Given the description of an element on the screen output the (x, y) to click on. 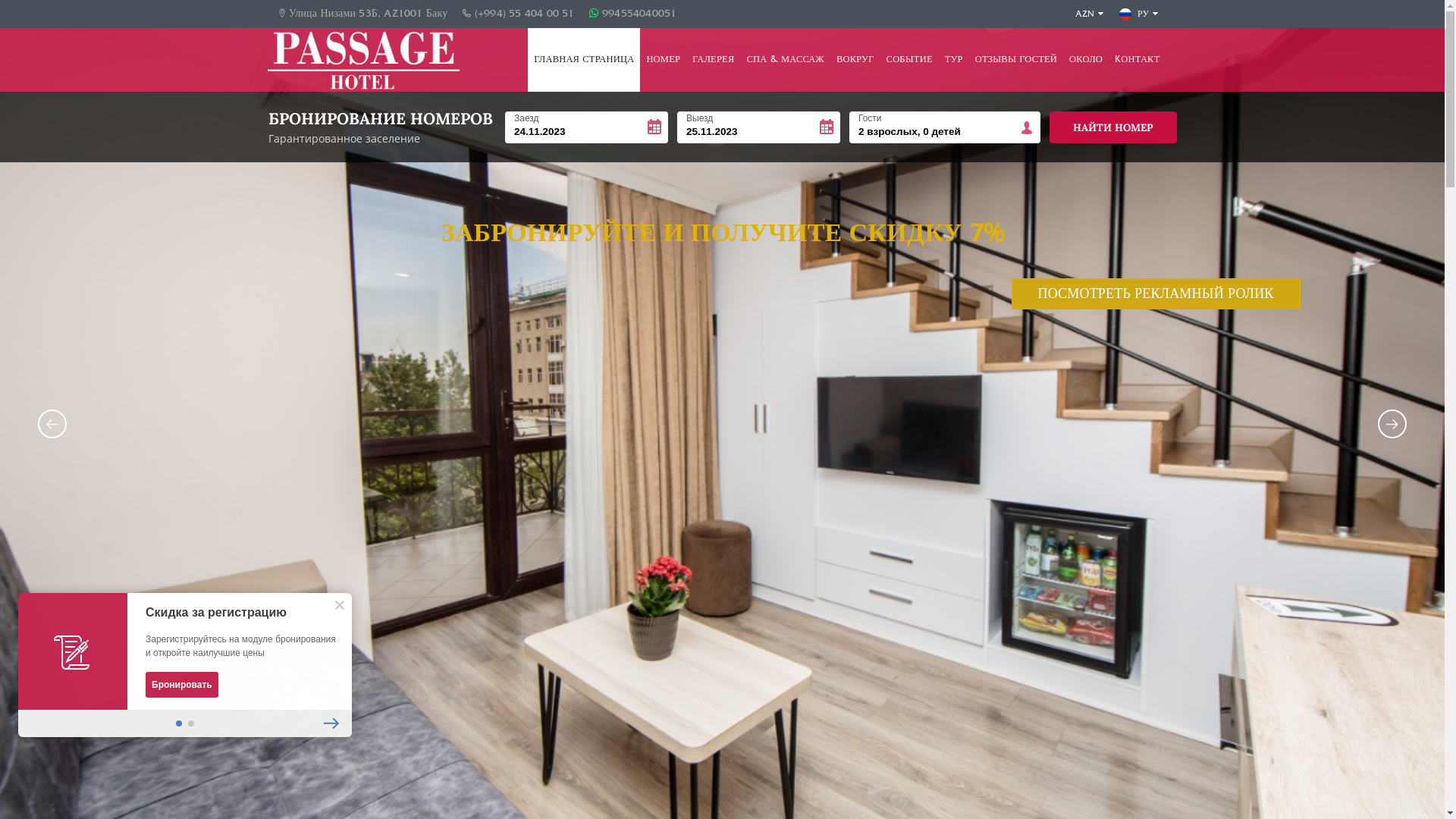
994554040051 Element type: text (633, 12)
